Given the description of an element on the screen output the (x, y) to click on. 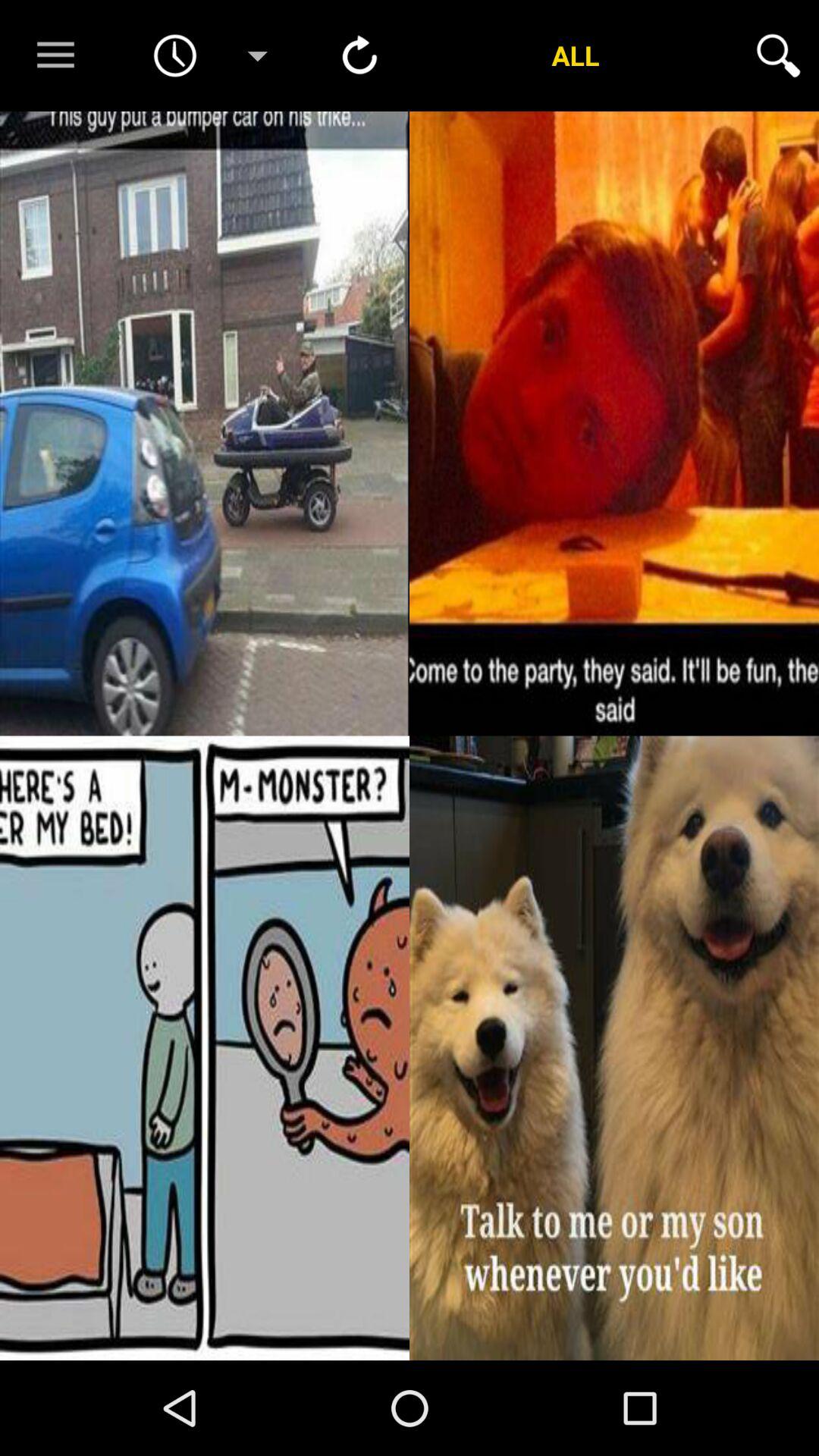
select the image (614, 1047)
